Given the description of an element on the screen output the (x, y) to click on. 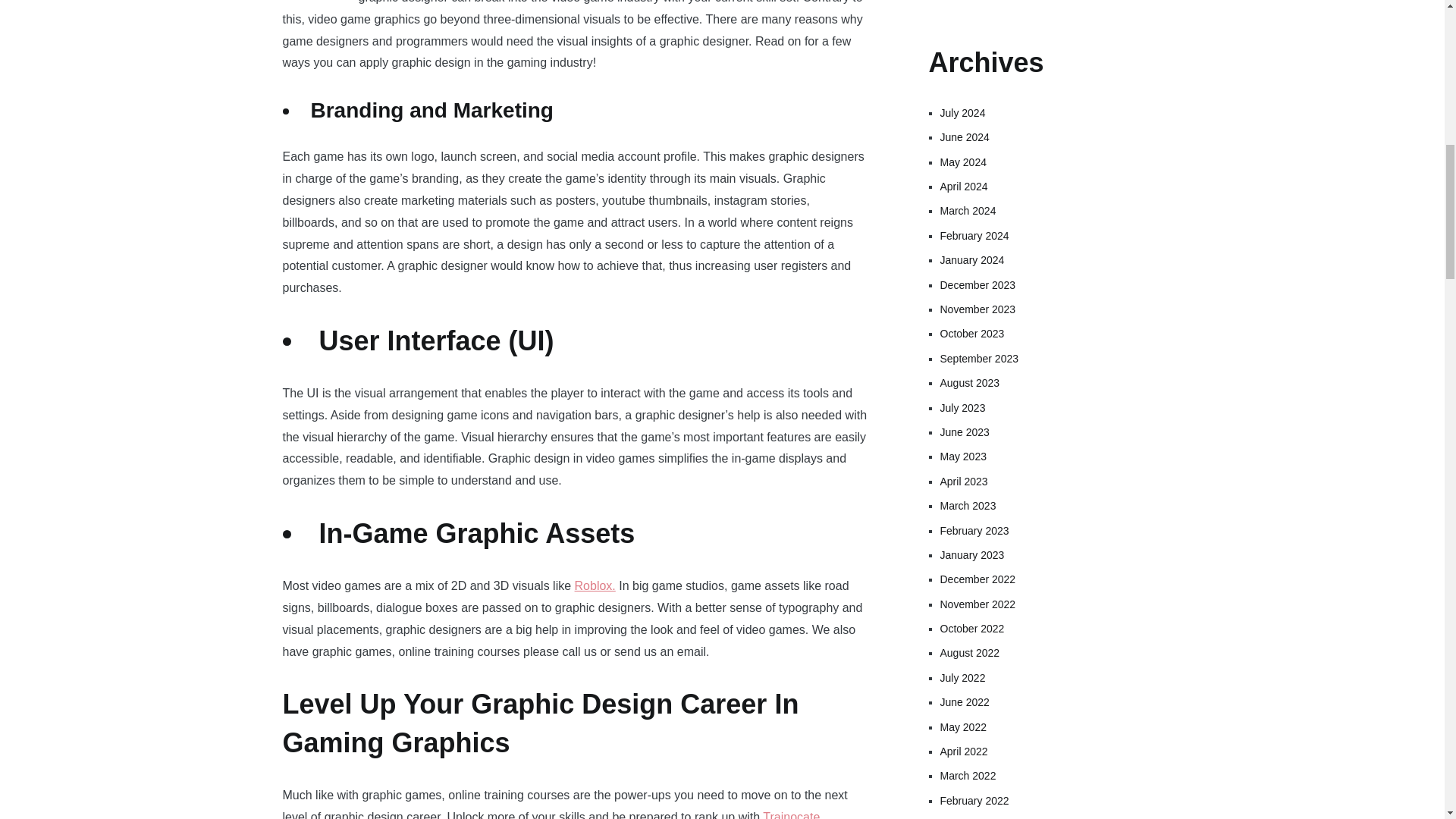
Trainocate (790, 814)
Roblox. (595, 585)
